Given the description of an element on the screen output the (x, y) to click on. 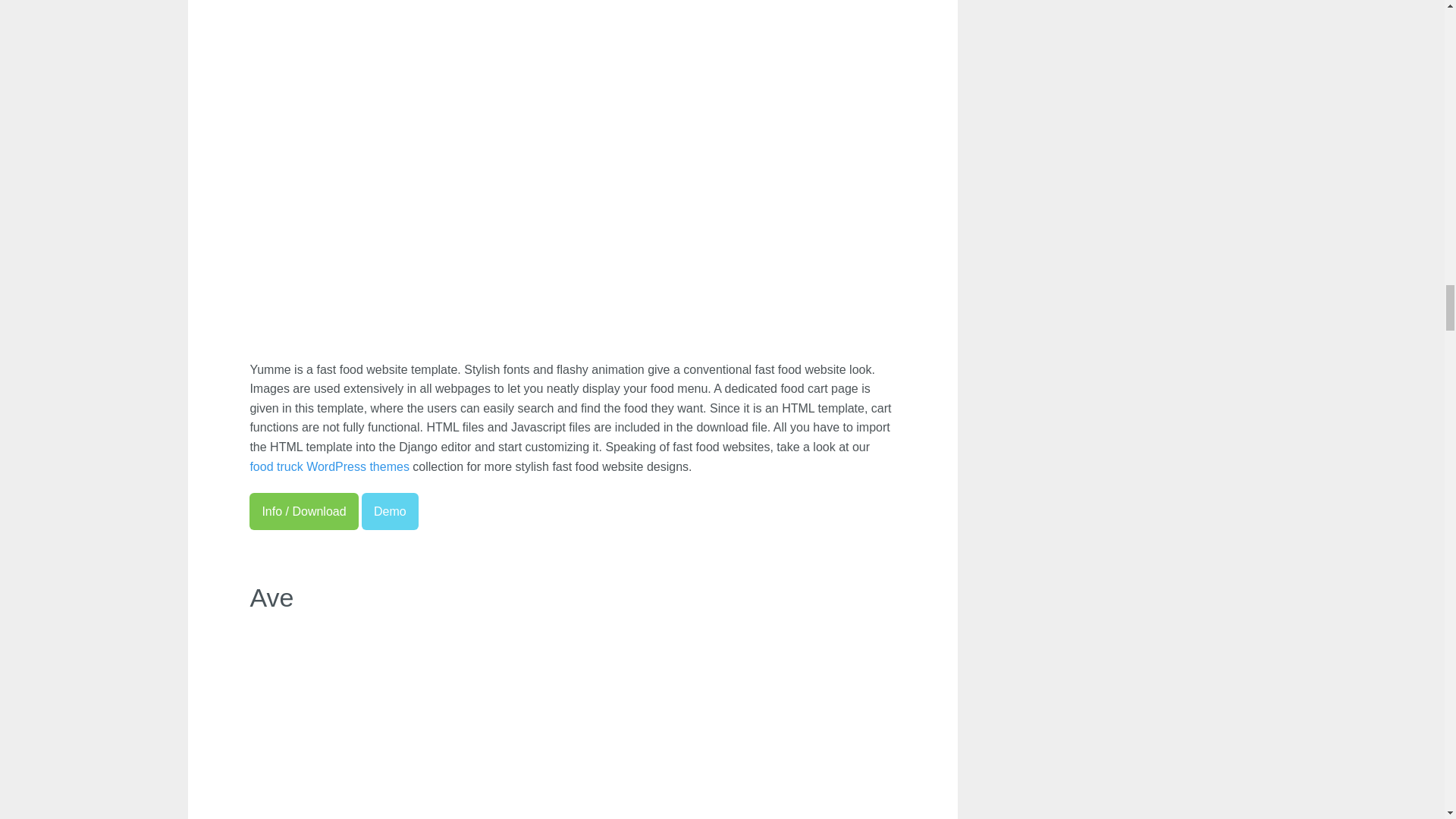
Demo (390, 511)
food truck WordPress themes (328, 466)
